Given the description of an element on the screen output the (x, y) to click on. 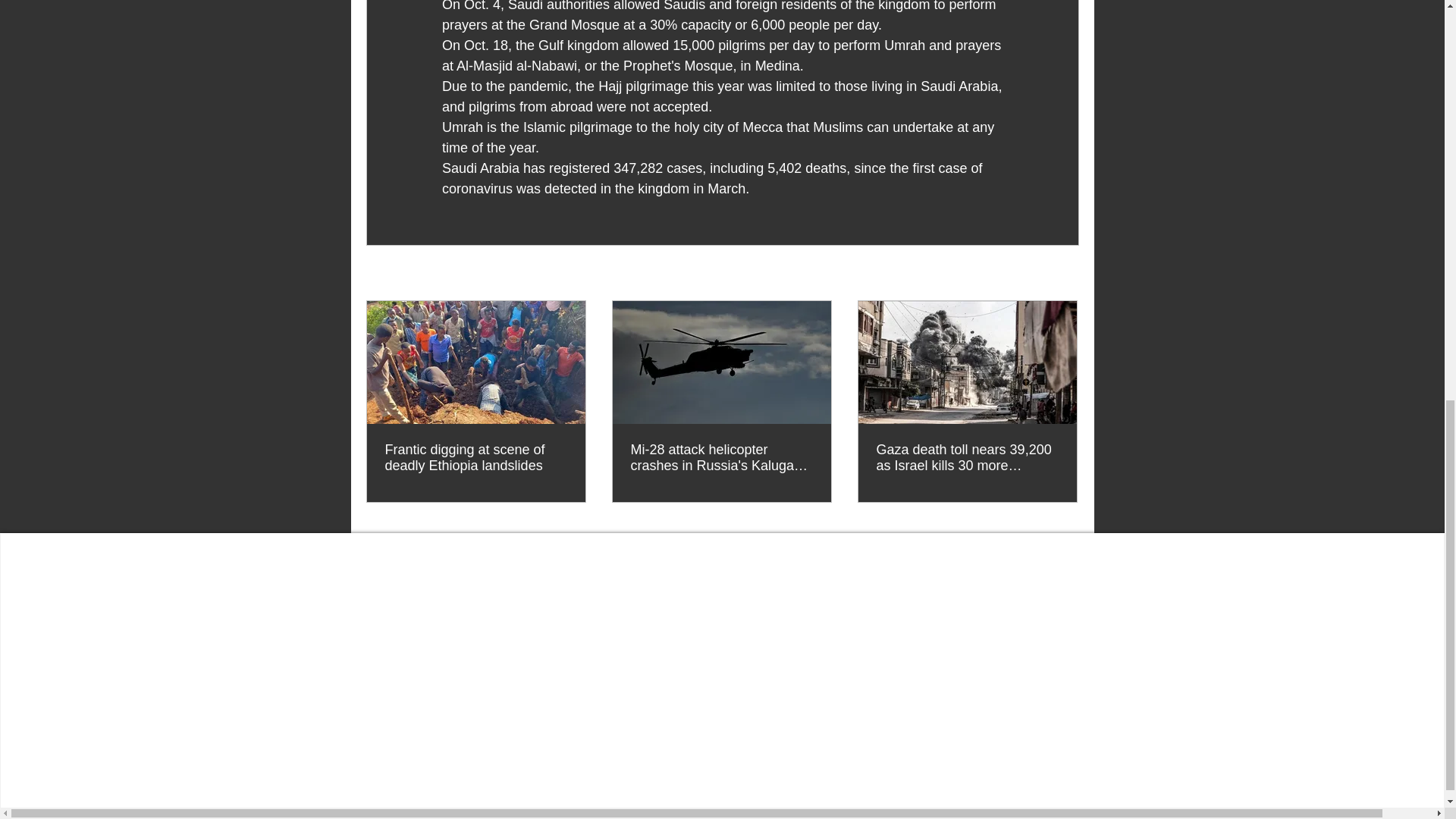
Frantic digging at scene of deadly Ethiopia landslides (476, 458)
See All (1061, 273)
Mi-28 attack helicopter crashes in Russia's Kaluga region (721, 458)
